Given the description of an element on the screen output the (x, y) to click on. 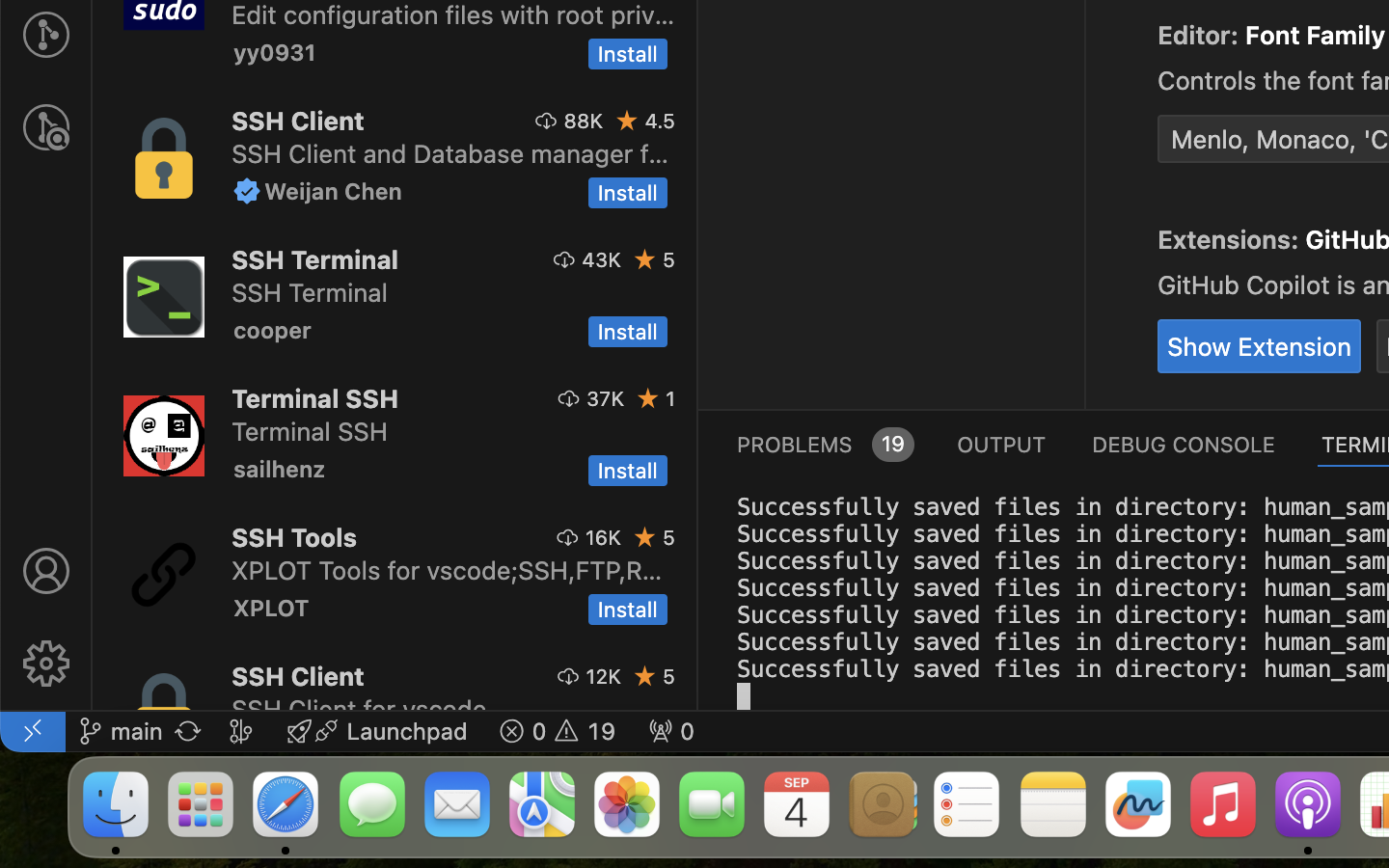
 Element type: AXStaticText (648, 397)
 Element type: AXGroup (46, 570)
4.5 Element type: AXStaticText (659, 120)
0  Element type: AXRadioButton (46, 127)
Editor: Element type: AXStaticText (1201, 35)
